Given the description of an element on the screen output the (x, y) to click on. 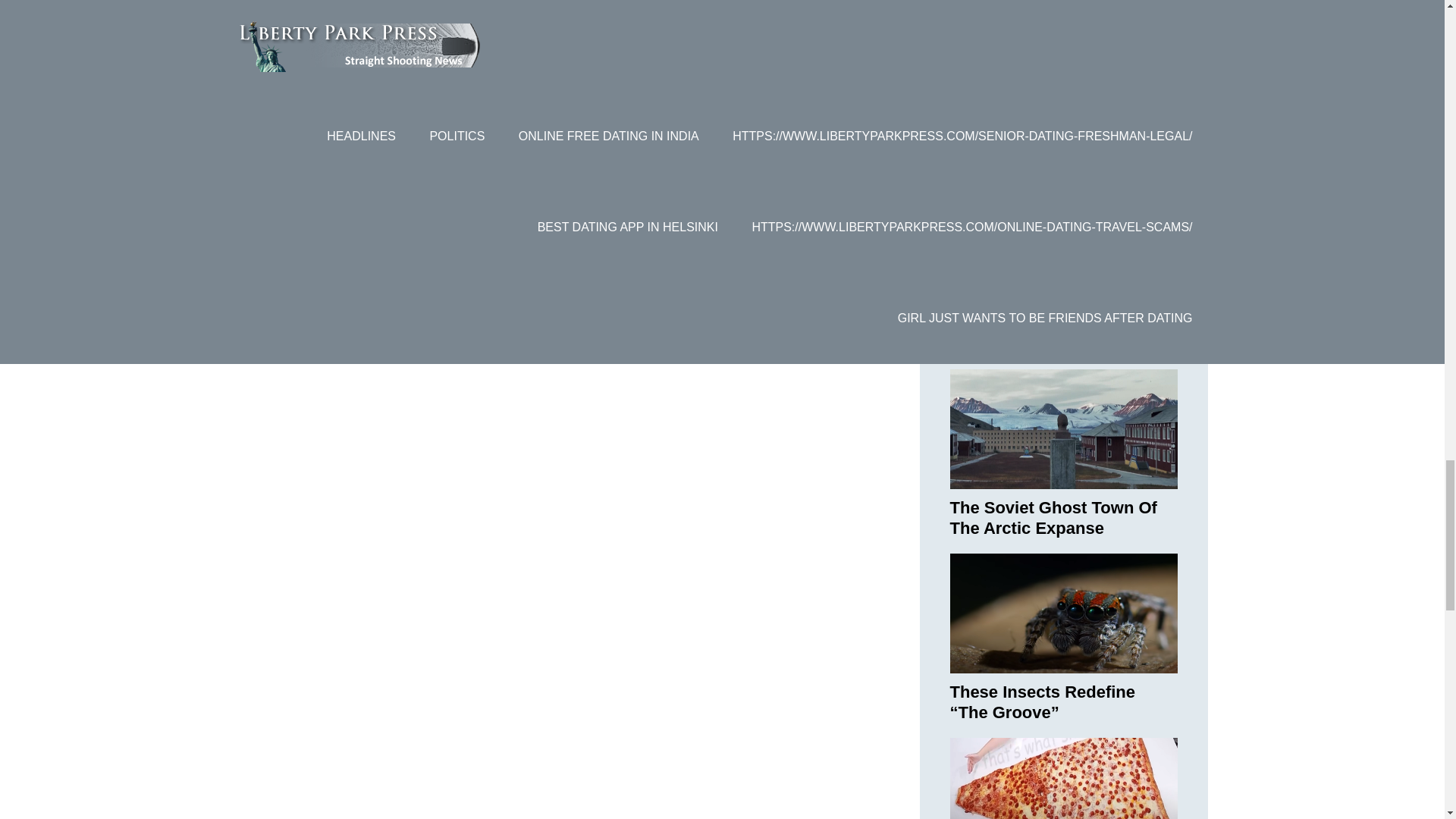
Tacoma (781, 41)
Concealed carry (532, 41)
2nd Amendment (410, 21)
Cheesecake Factory (426, 41)
Law Enforcement (630, 41)
Social Media (719, 41)
News Feed (493, 21)
